Given the description of an element on the screen output the (x, y) to click on. 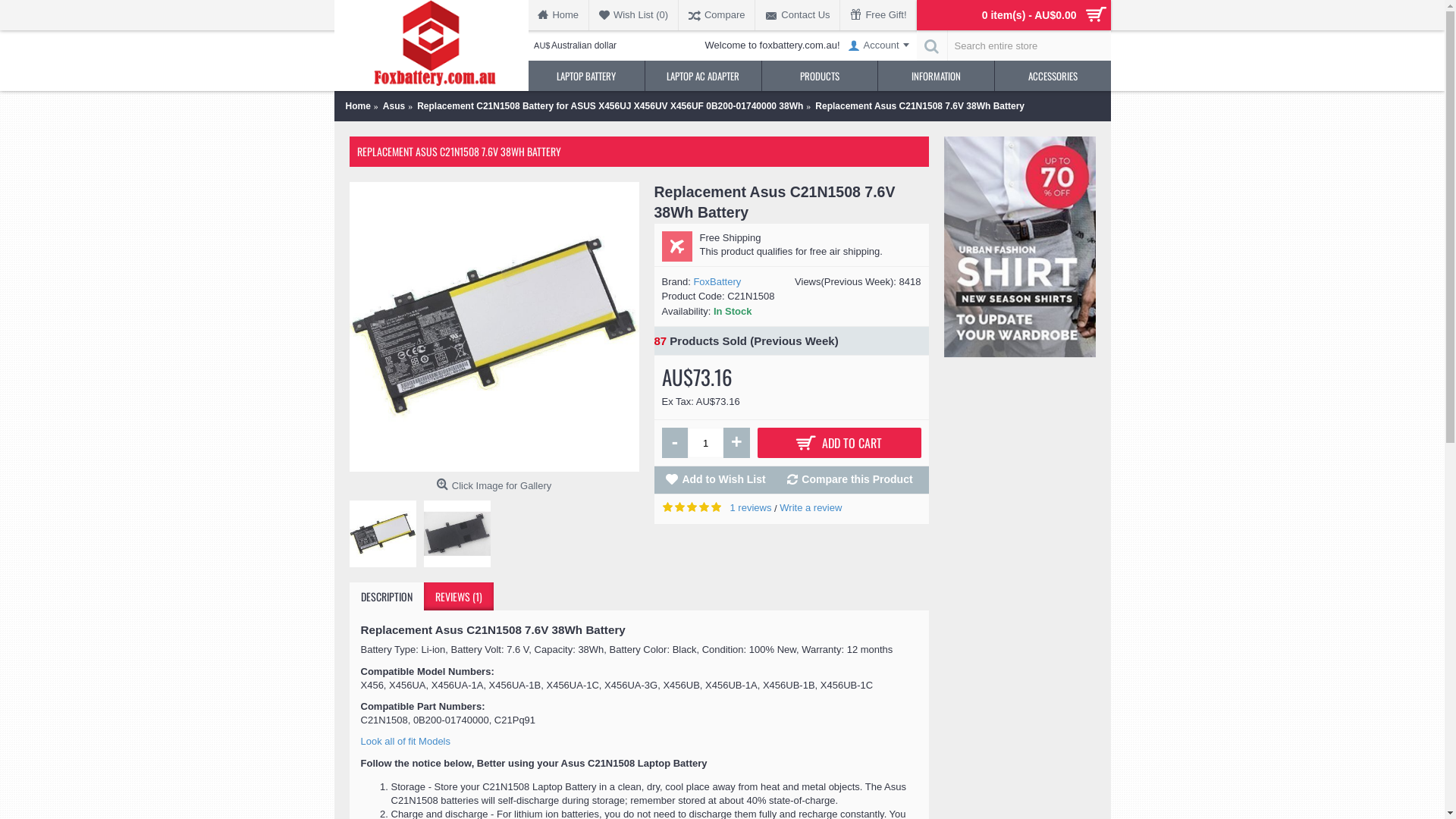
Look all of fit Models Element type: text (405, 740)
+ Element type: text (736, 442)
INFORMATION Element type: text (936, 75)
FoxBattery  Element type: hover (431, 45)
Account Element type: text (878, 45)
Replacement Asus C21N1508 7.6V 38Wh Battery Element type: text (919, 105)
Replacement Asus C21N1508 7.6V 38Wh Battery Element type: hover (381, 533)
Contact Us Element type: text (797, 15)
Free Gift! Element type: text (878, 15)
- Element type: text (674, 442)
Compare this Product Element type: text (851, 478)
0 item(s) - AU$0.00 Element type: text (1013, 15)
ACCESSORIES Element type: text (1052, 75)
Home Element type: text (357, 105)
ADD TO CART Element type: text (838, 442)
Replacement Asus C21N1508 7.6V 38Wh Battery Element type: hover (456, 533)
Write a review Element type: text (810, 507)
Replacement Asus C21N1508 7.6V 38Wh Battery Element type: hover (493, 326)
Asus Element type: text (393, 105)
PRODUCTS Element type: text (820, 75)
AU$
Australian dollar Element type: text (578, 45)
Home Element type: text (558, 15)
1 reviews Element type: text (750, 507)
Wish List (0) Element type: text (633, 15)
Compare Element type: text (716, 15)
LAPTOP BATTERY Element type: text (585, 75)
Add to Wish List Element type: text (717, 478)
REVIEWS (1) Element type: text (457, 596)
FoxBattery Element type: text (716, 281)
DESCRIPTION Element type: text (385, 596)
LAPTOP AC ADAPTER Element type: text (703, 75)
